Given the description of an element on the screen output the (x, y) to click on. 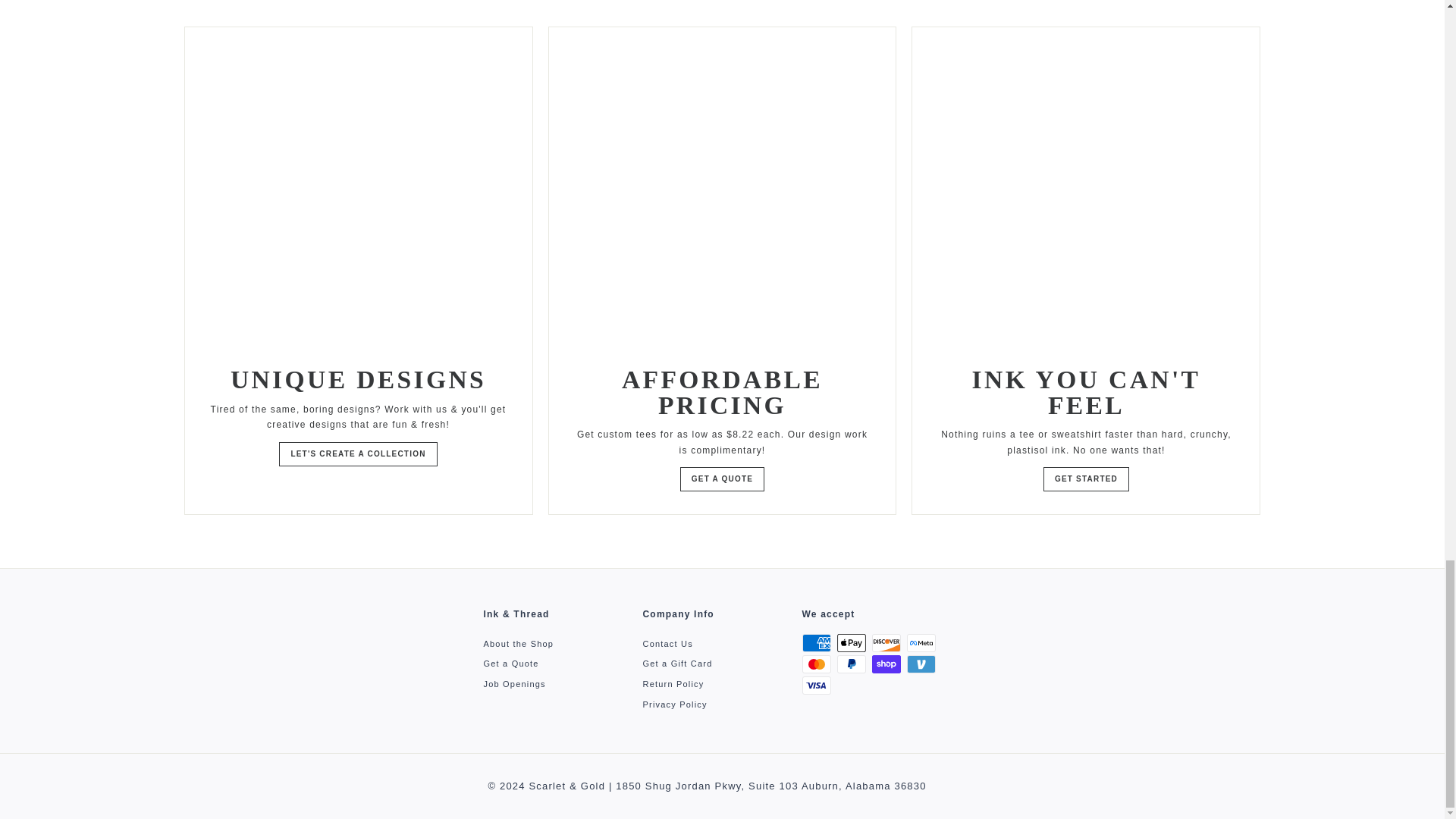
PayPal (851, 664)
Shop Pay (886, 664)
Venmo (921, 664)
Apple Pay (851, 642)
Visa (816, 685)
Meta Pay (921, 642)
Mastercard (816, 664)
Discover (886, 642)
American Express (816, 642)
